Given the description of an element on the screen output the (x, y) to click on. 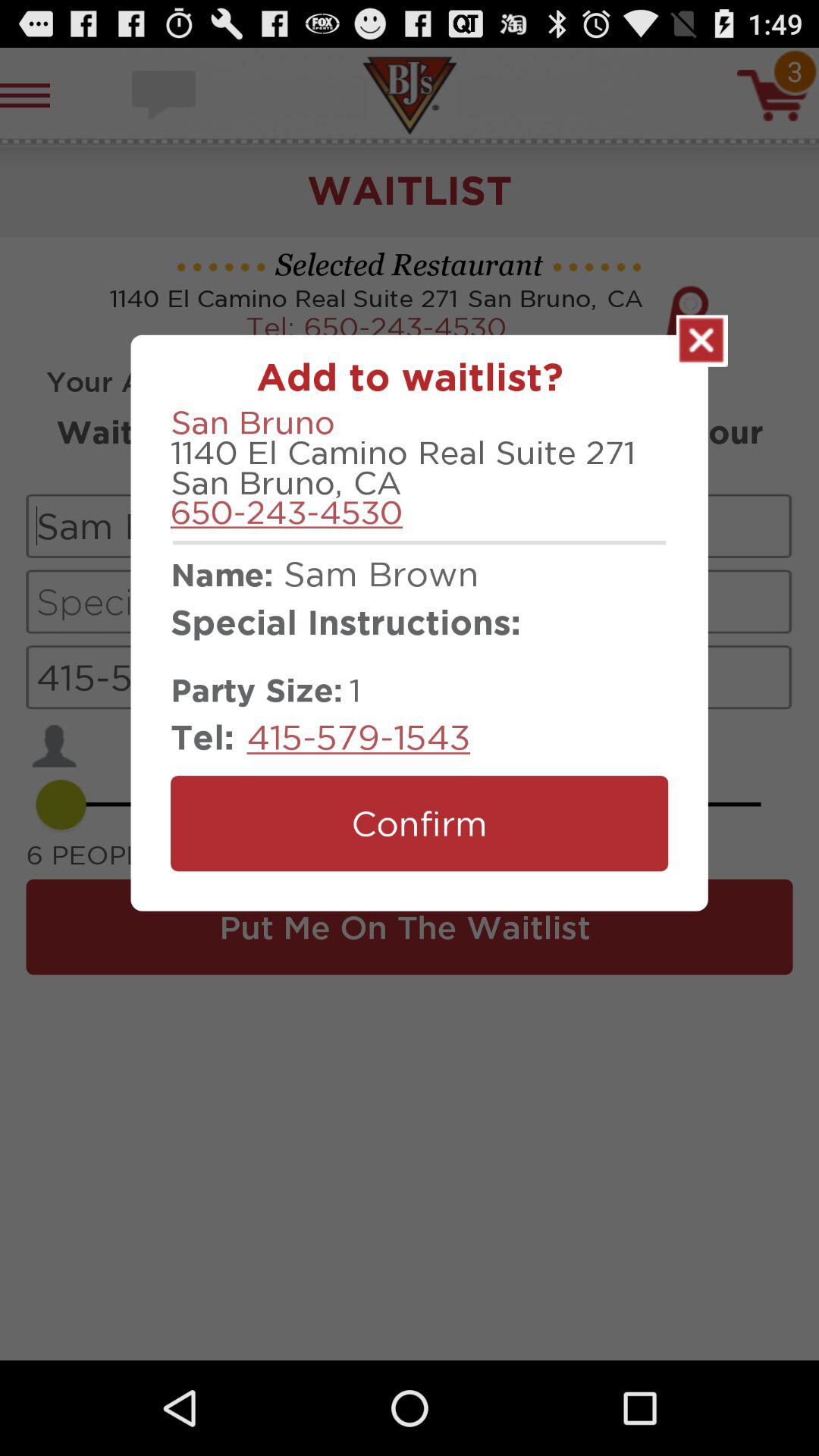
close the waitlist (702, 340)
